Given the description of an element on the screen output the (x, y) to click on. 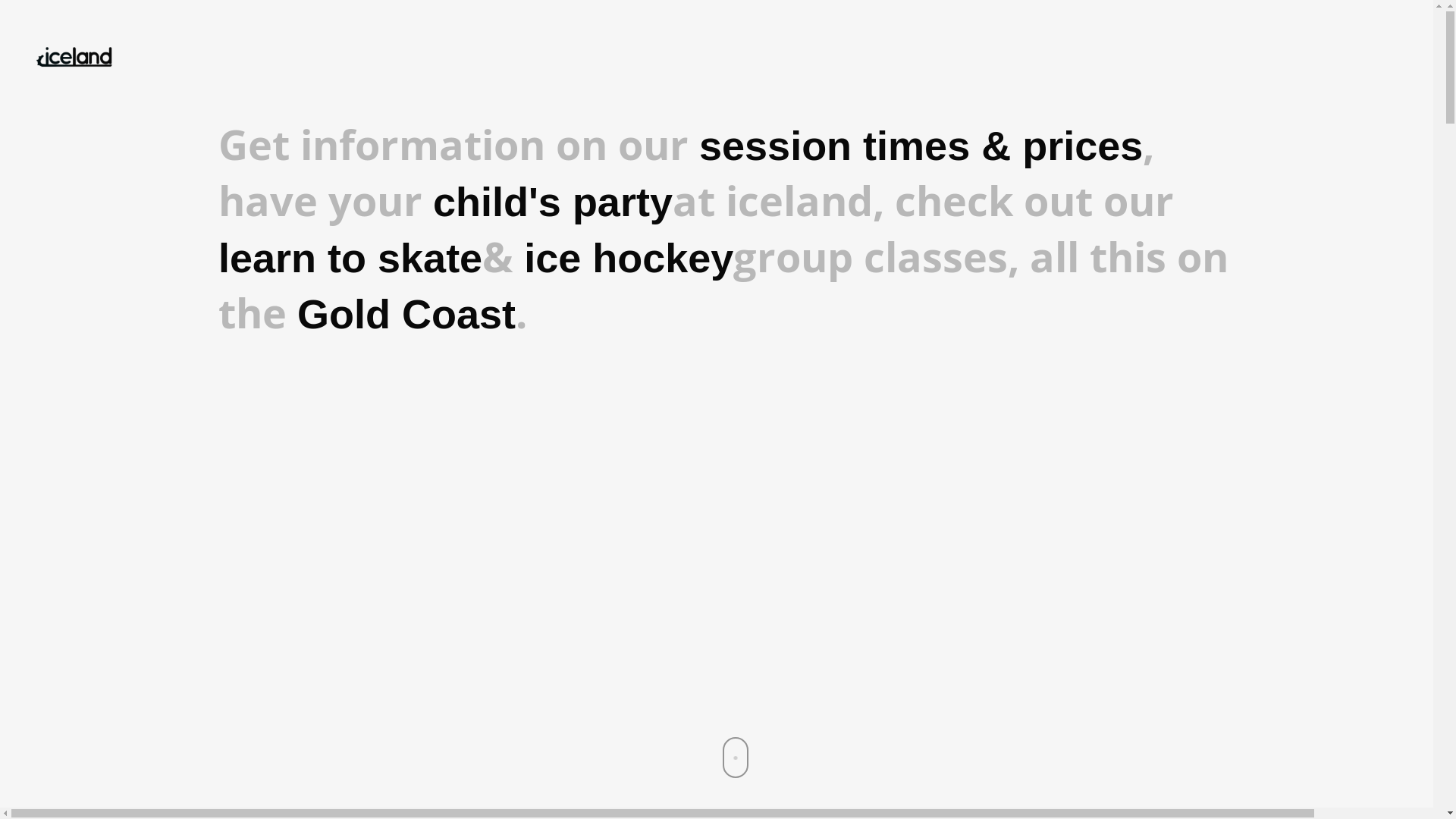
child's party Element type: text (552, 201)
Gold Coast Element type: text (406, 313)
learn to skate Element type: text (350, 257)
learn to skate Element type: text (350, 257)
session times & prices Element type: text (920, 145)
child's party Element type: text (552, 201)
session times & prices Element type: text (920, 145)
ice hockey Element type: text (628, 257)
ice hockey Element type: text (628, 257)
Gold Coast Element type: text (406, 313)
